Given the description of an element on the screen output the (x, y) to click on. 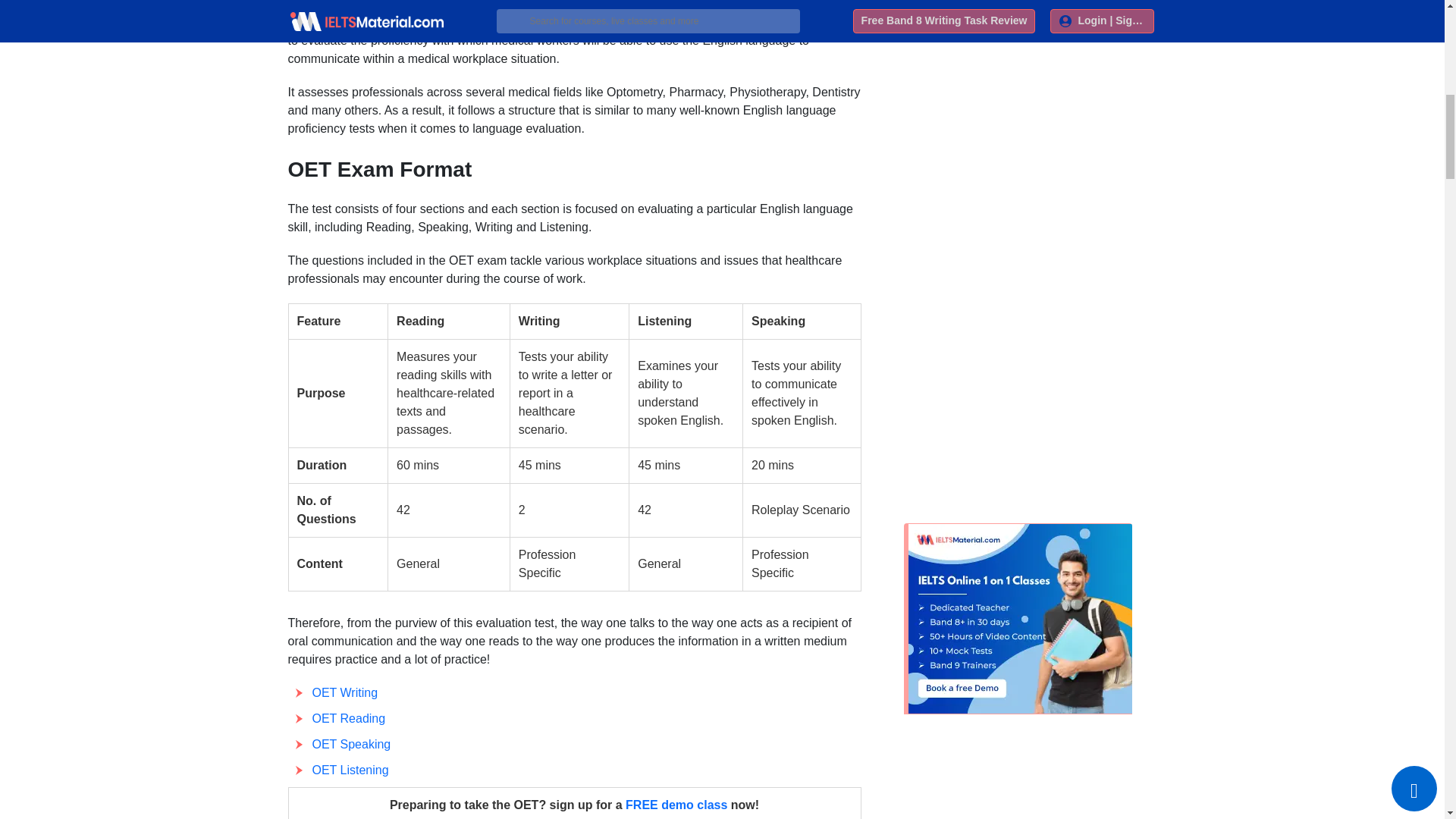
OET Speaking (352, 744)
OET Reading (349, 717)
OET Listening (350, 769)
IELTS Web Stories (979, 1)
OET Writing (345, 692)
FREE demo class (676, 804)
